Given the description of an element on the screen output the (x, y) to click on. 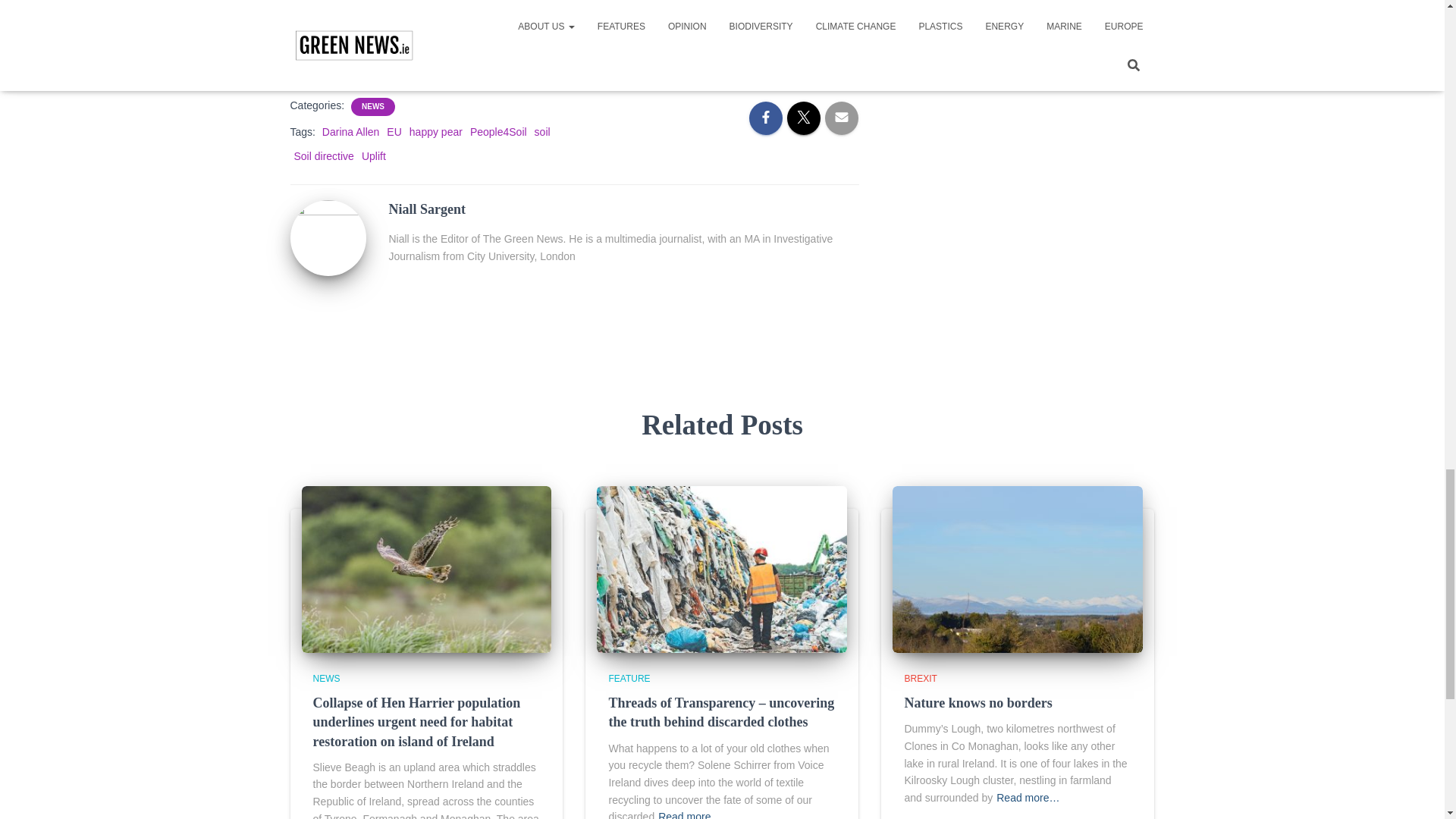
People4Soil (498, 132)
happy pear (436, 132)
Uplift (373, 155)
Soil directive (323, 155)
Darina Allen (350, 132)
NEWS (372, 106)
EU (394, 132)
soil (542, 132)
